Given the description of an element on the screen output the (x, y) to click on. 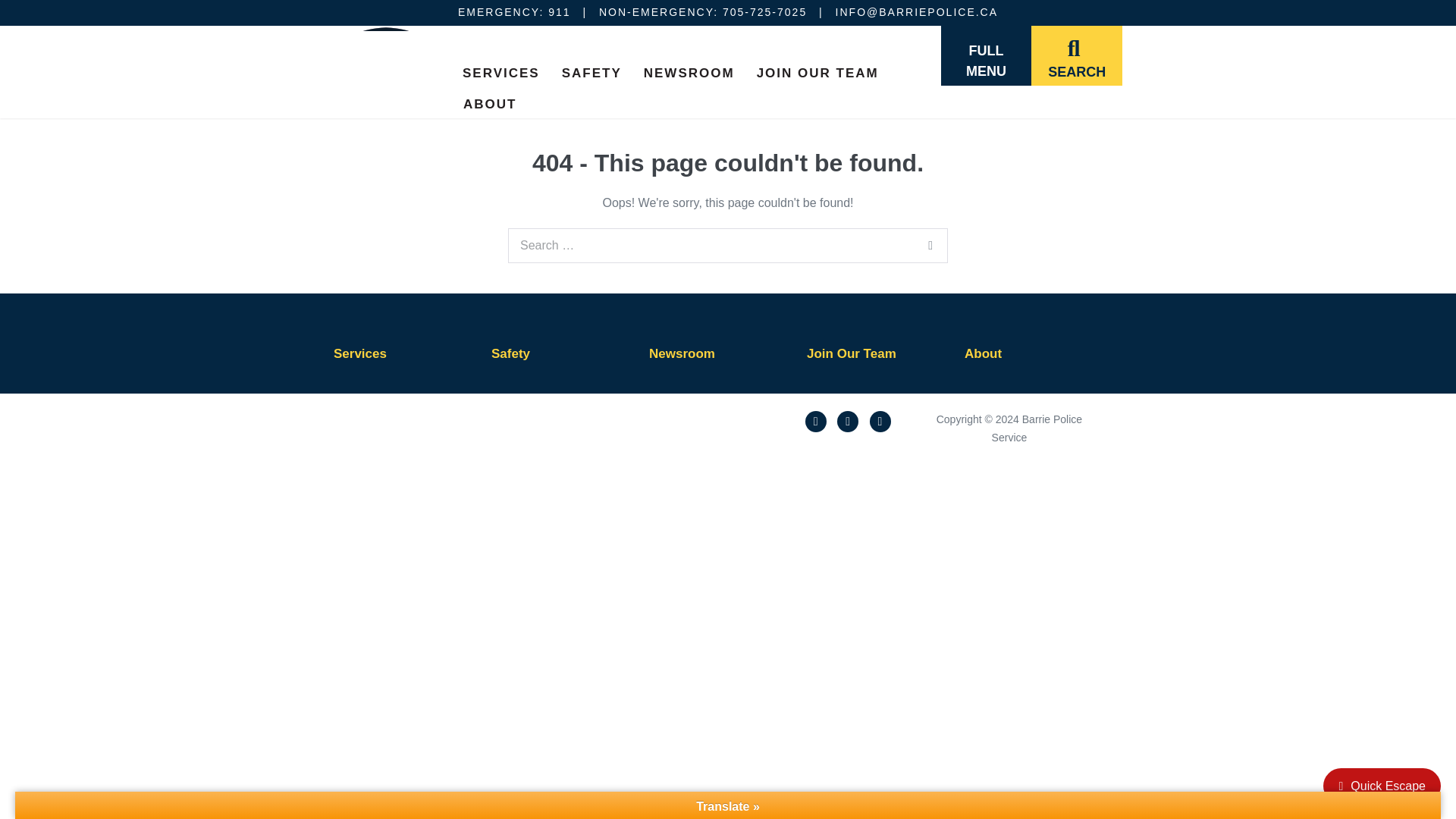
Join Our Team (851, 353)
Press enter to search (727, 245)
About (982, 353)
NEWSROOM (689, 71)
NON-EMERGENCY: 705-725-7025 (702, 11)
Services (360, 353)
SERVICES (500, 71)
Newsroom (681, 353)
SAFETY (591, 71)
Safety (510, 353)
